Given the description of an element on the screen output the (x, y) to click on. 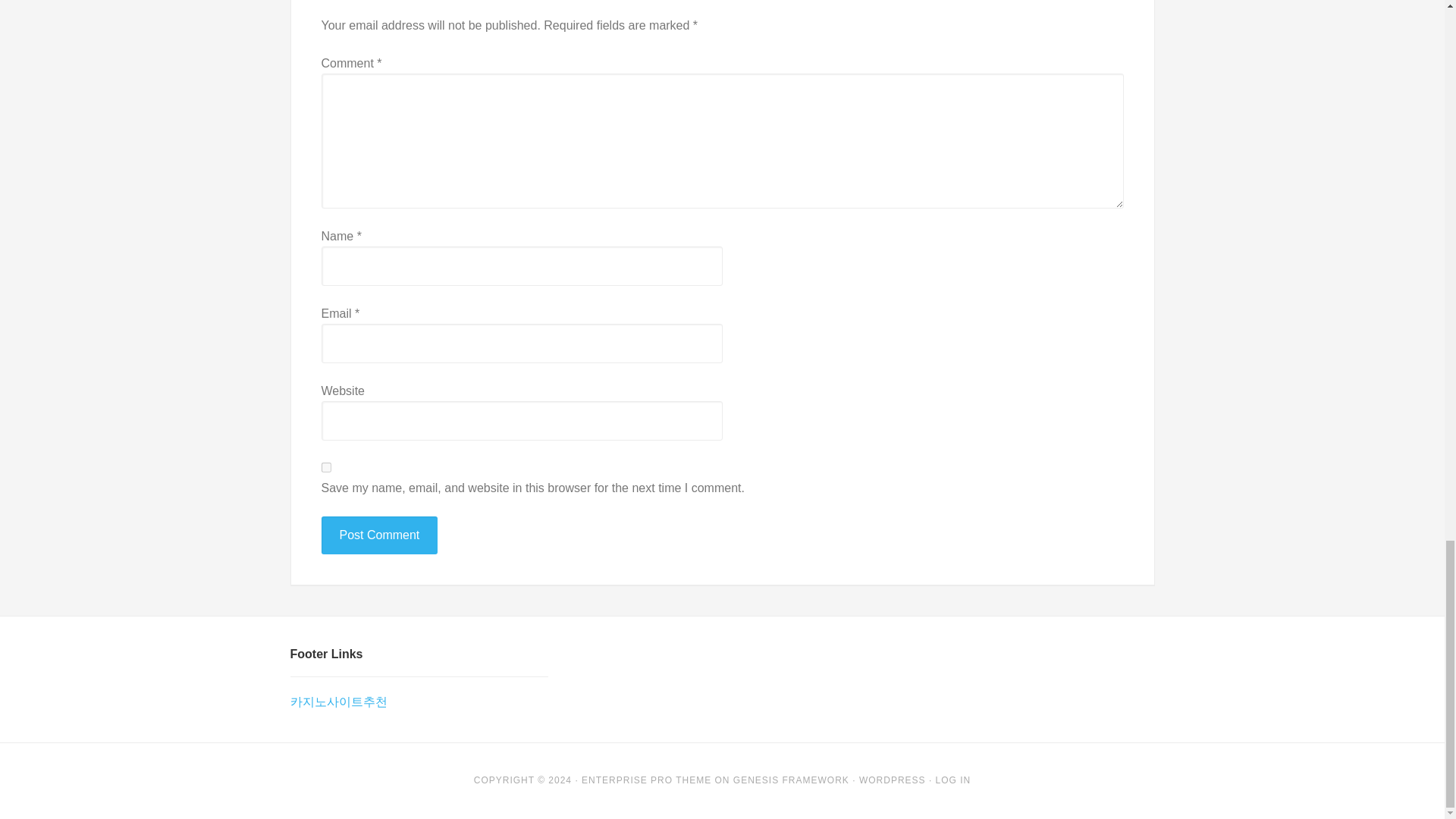
LOG IN (953, 779)
yes (326, 467)
Post Comment (379, 535)
GENESIS FRAMEWORK (790, 779)
ENTERPRISE PRO THEME (645, 779)
WORDPRESS (892, 779)
Post Comment (379, 535)
